Given the description of an element on the screen output the (x, y) to click on. 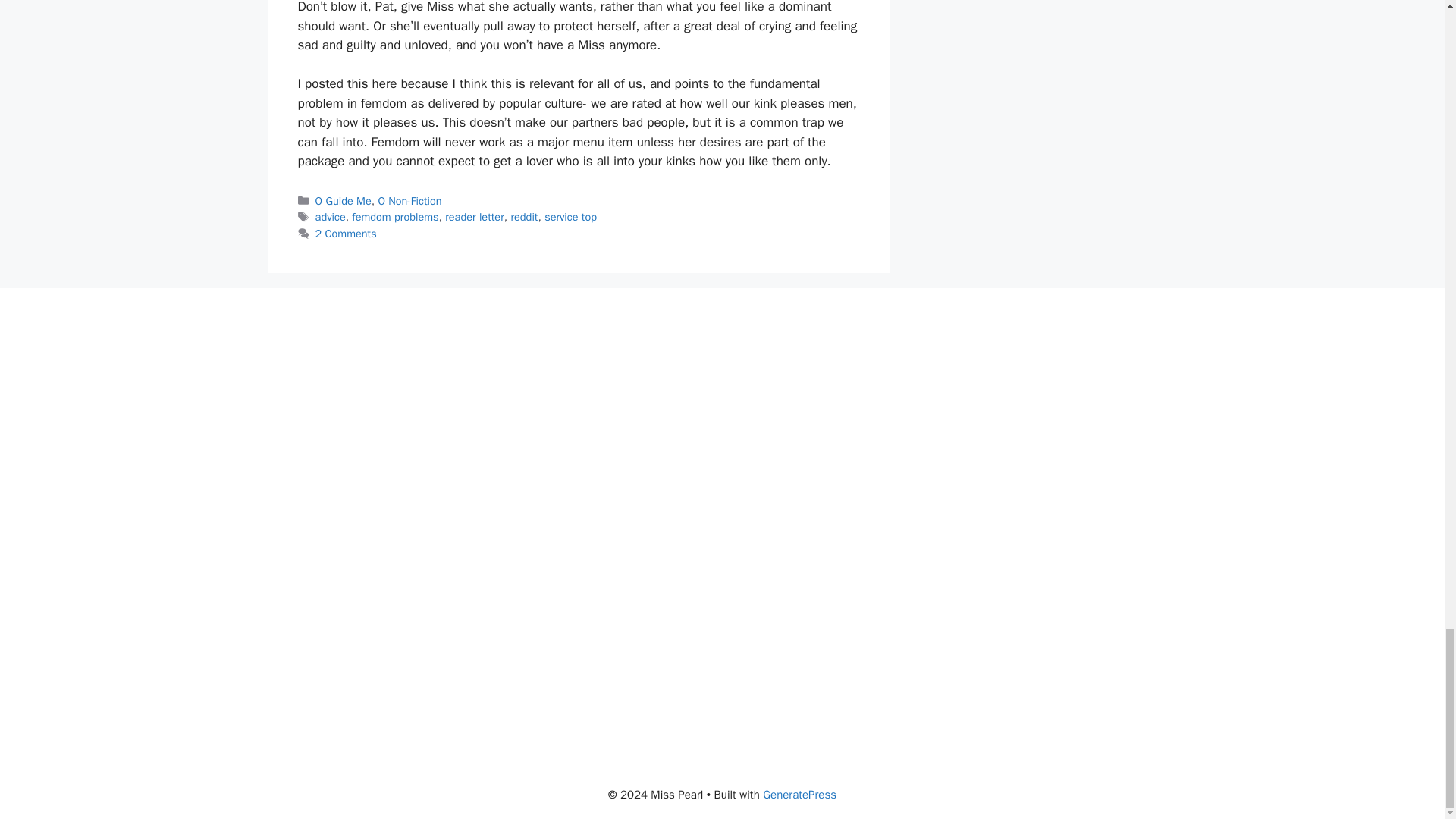
advice (330, 216)
reddit (524, 216)
reader letter (474, 216)
O Non-Fiction (409, 201)
service top (570, 216)
2 Comments (346, 233)
femdom problems (395, 216)
O Guide Me (343, 201)
